Given the description of an element on the screen output the (x, y) to click on. 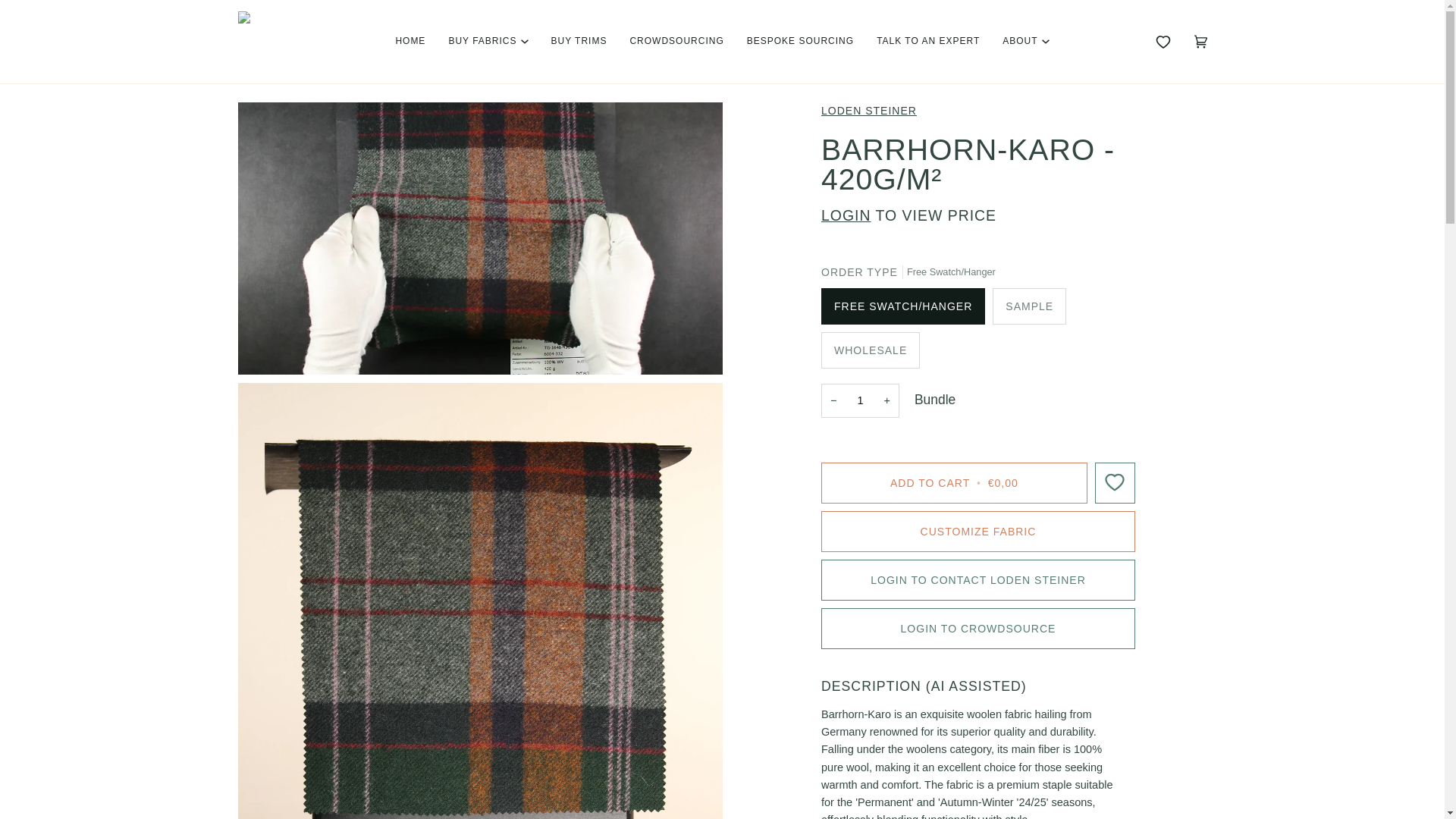
TALK TO AN EXPERT (927, 41)
CROWDSOURCING (676, 41)
BESPOKE SOURCING (799, 41)
1 (860, 400)
BUY FABRICS (487, 41)
BUY TRIMS (579, 41)
